Given the description of an element on the screen output the (x, y) to click on. 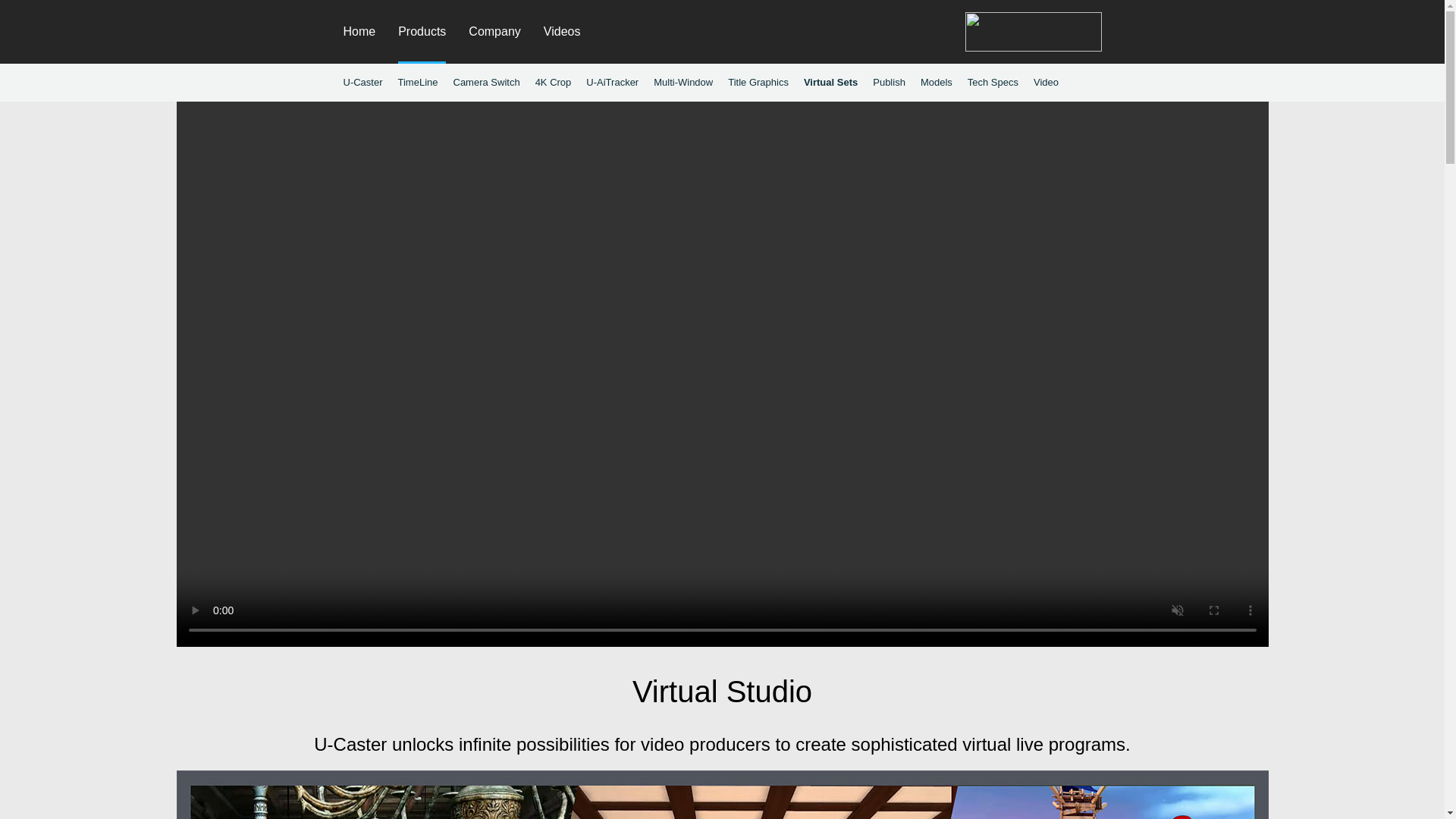
Models (936, 81)
Virtual Sets (830, 81)
Publish (888, 81)
Video (1045, 81)
Tech Specs (992, 81)
TimeLine (417, 81)
Camera Switch (485, 81)
Multi-Window (683, 81)
Title Graphics (758, 81)
U-AiTracker (612, 81)
